Given the description of an element on the screen output the (x, y) to click on. 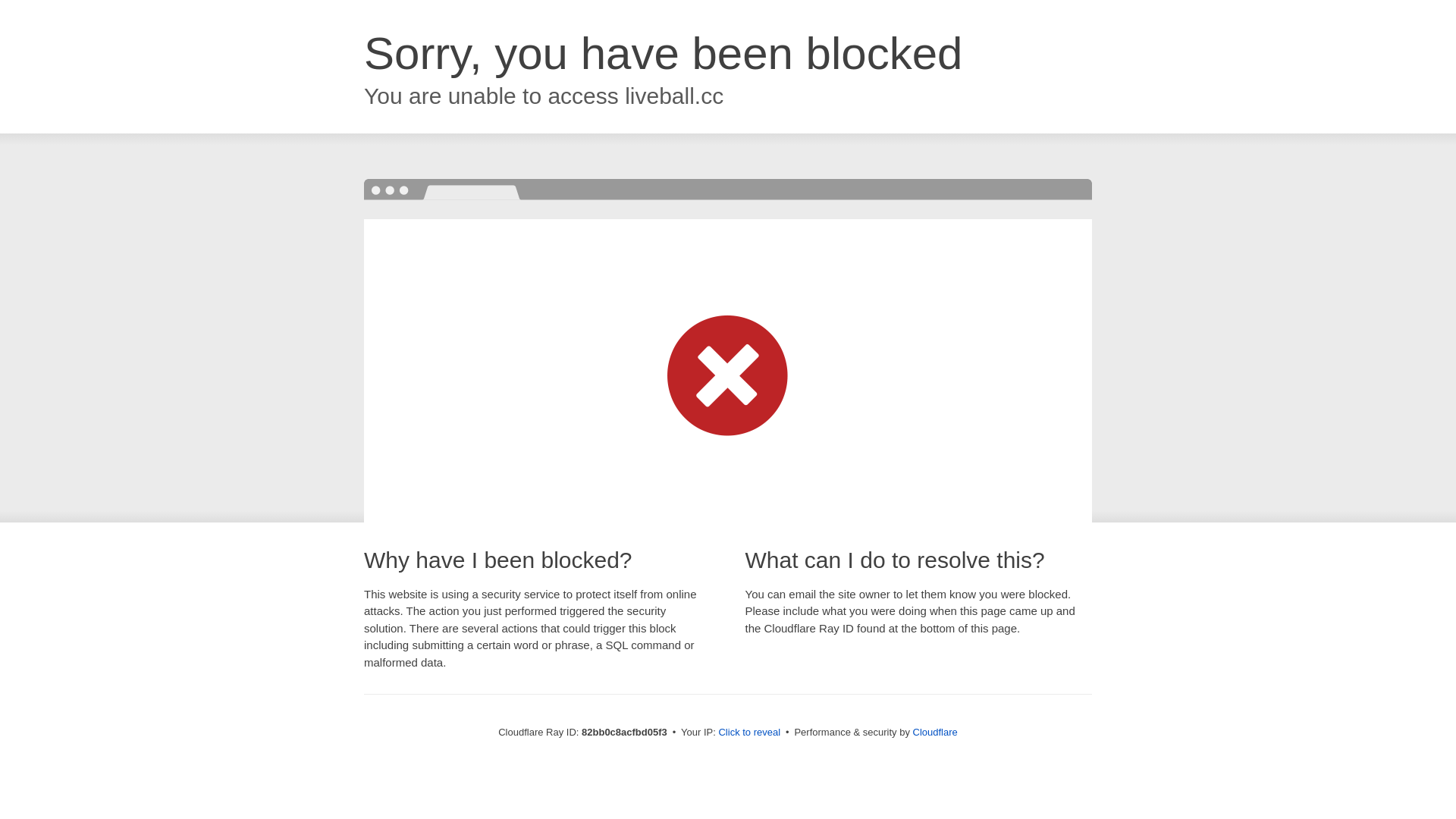
Click to reveal Element type: text (749, 732)
Cloudflare Element type: text (935, 731)
